Given the description of an element on the screen output the (x, y) to click on. 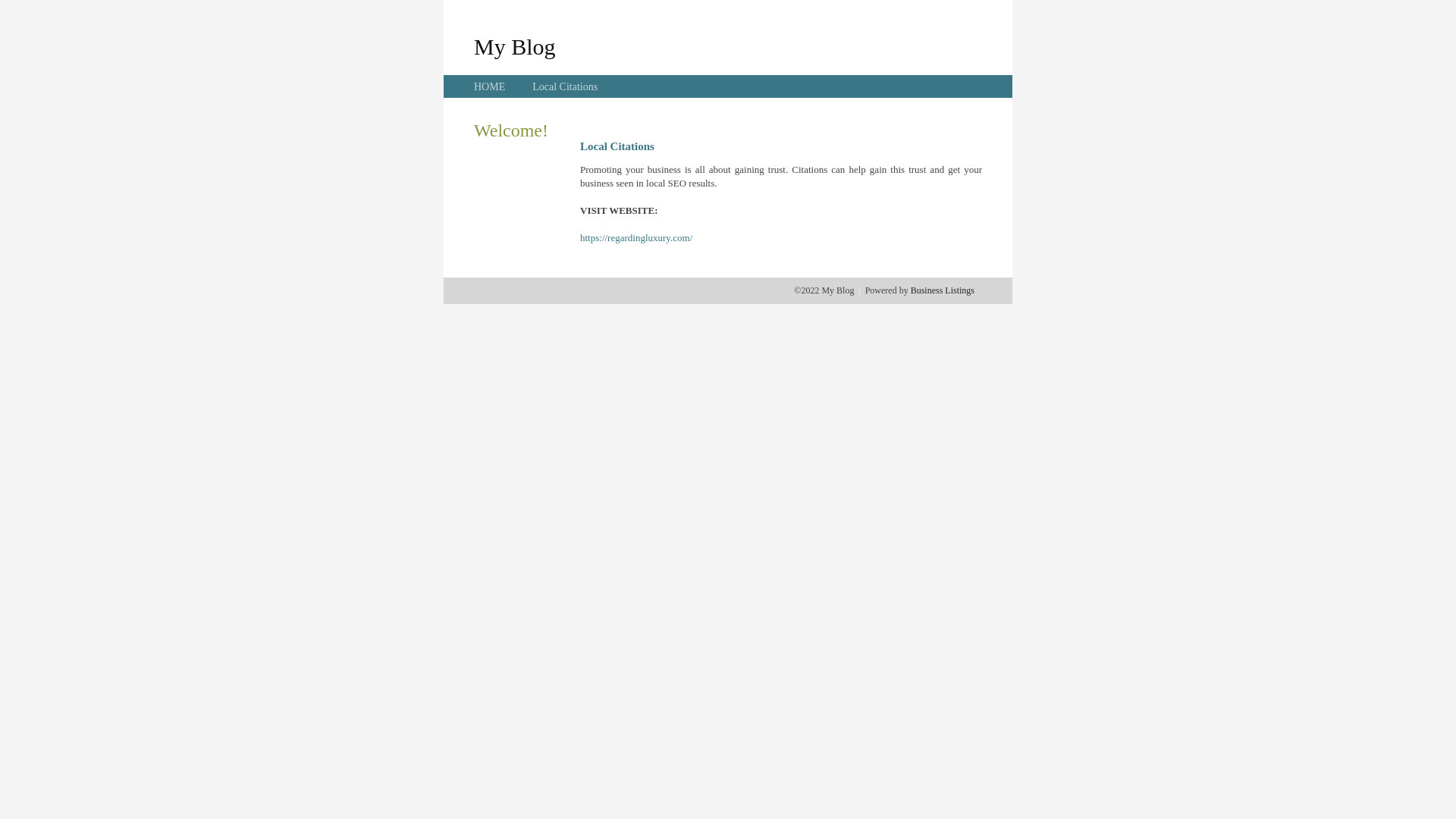
HOME Element type: text (489, 86)
https://regardingluxury.com/ Element type: text (636, 237)
Business Listings Element type: text (942, 290)
My Blog Element type: text (514, 46)
Local Citations Element type: text (564, 86)
